Given the description of an element on the screen output the (x, y) to click on. 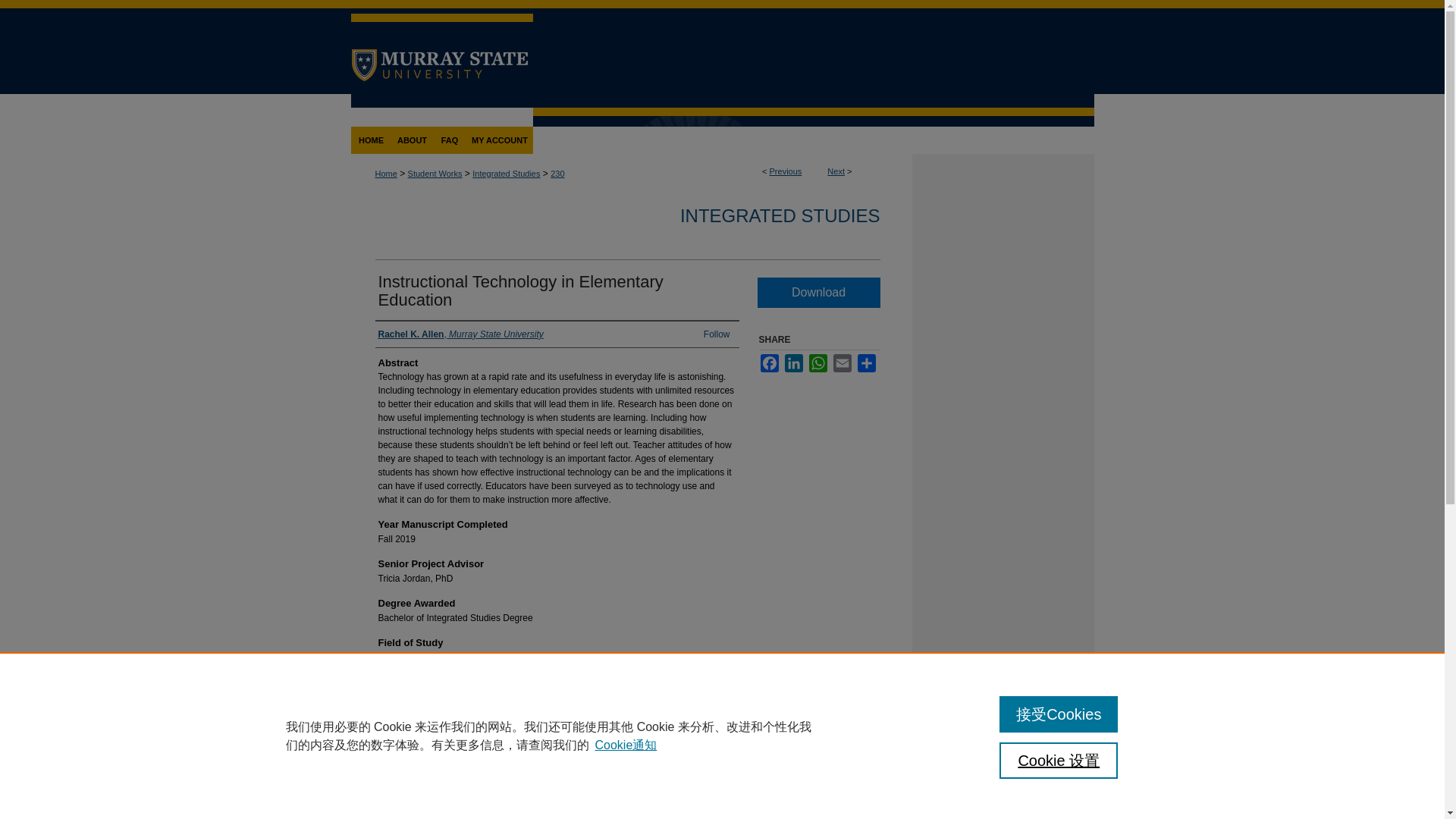
Follow Rachel K. Allen (716, 334)
FAQ (448, 139)
Integrated Studies (505, 173)
Murray State University (441, 20)
Email (841, 362)
INTEGRATED STUDIES (779, 215)
Instructional Technology in Elementary Education (519, 290)
Home (385, 173)
Murray State's Digital Commons (812, 154)
Facebook (768, 362)
230 (557, 173)
Download (818, 292)
ABOUT (411, 139)
Previous (786, 171)
About (411, 139)
